Given the description of an element on the screen output the (x, y) to click on. 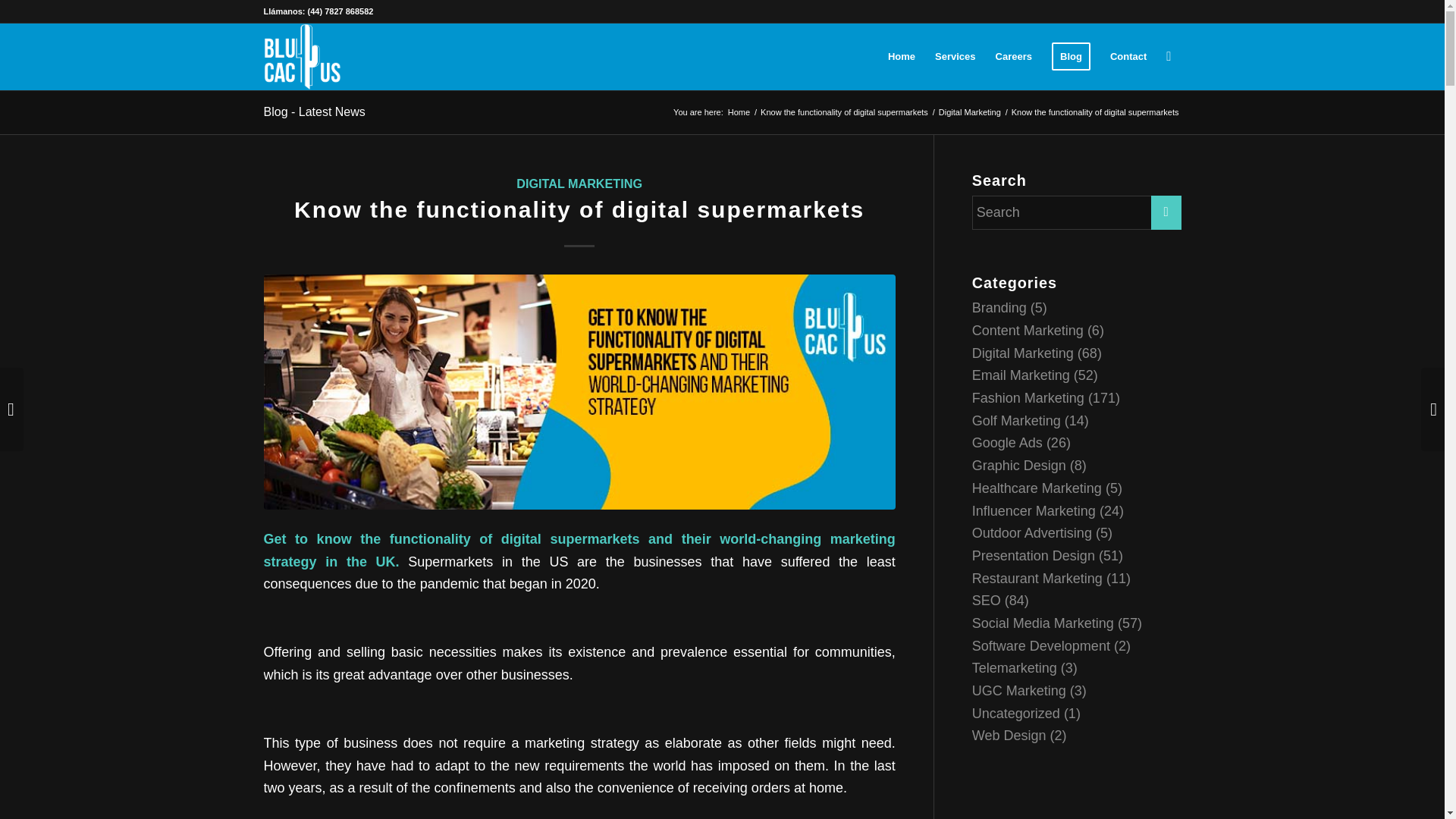
Know the functionality of digital supermarkets (844, 112)
Know the functionality of digital supermarkets (844, 112)
Services (954, 56)
DIGITAL MARKETING (579, 183)
BluCactus United Kingdom (738, 112)
Home (738, 112)
Blog - Latest News (314, 111)
Digital Marketing (969, 112)
Permanent Link: Blog - Latest News (314, 111)
